Given the description of an element on the screen output the (x, y) to click on. 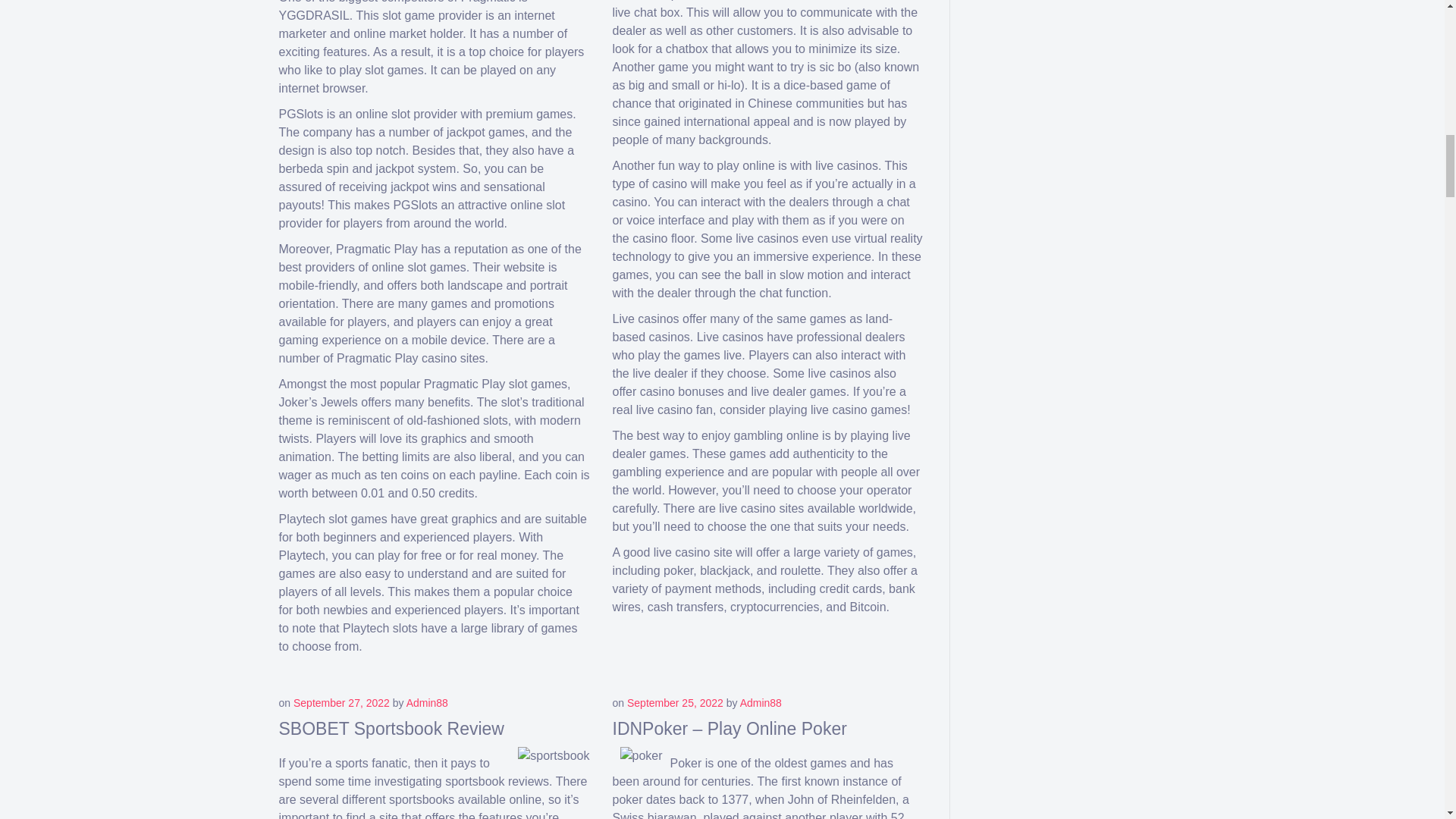
September 25, 2022 (675, 702)
Admin88 (427, 702)
September 27, 2022 (342, 702)
SBOBET Sportsbook Review (391, 728)
Admin88 (760, 702)
